Given the description of an element on the screen output the (x, y) to click on. 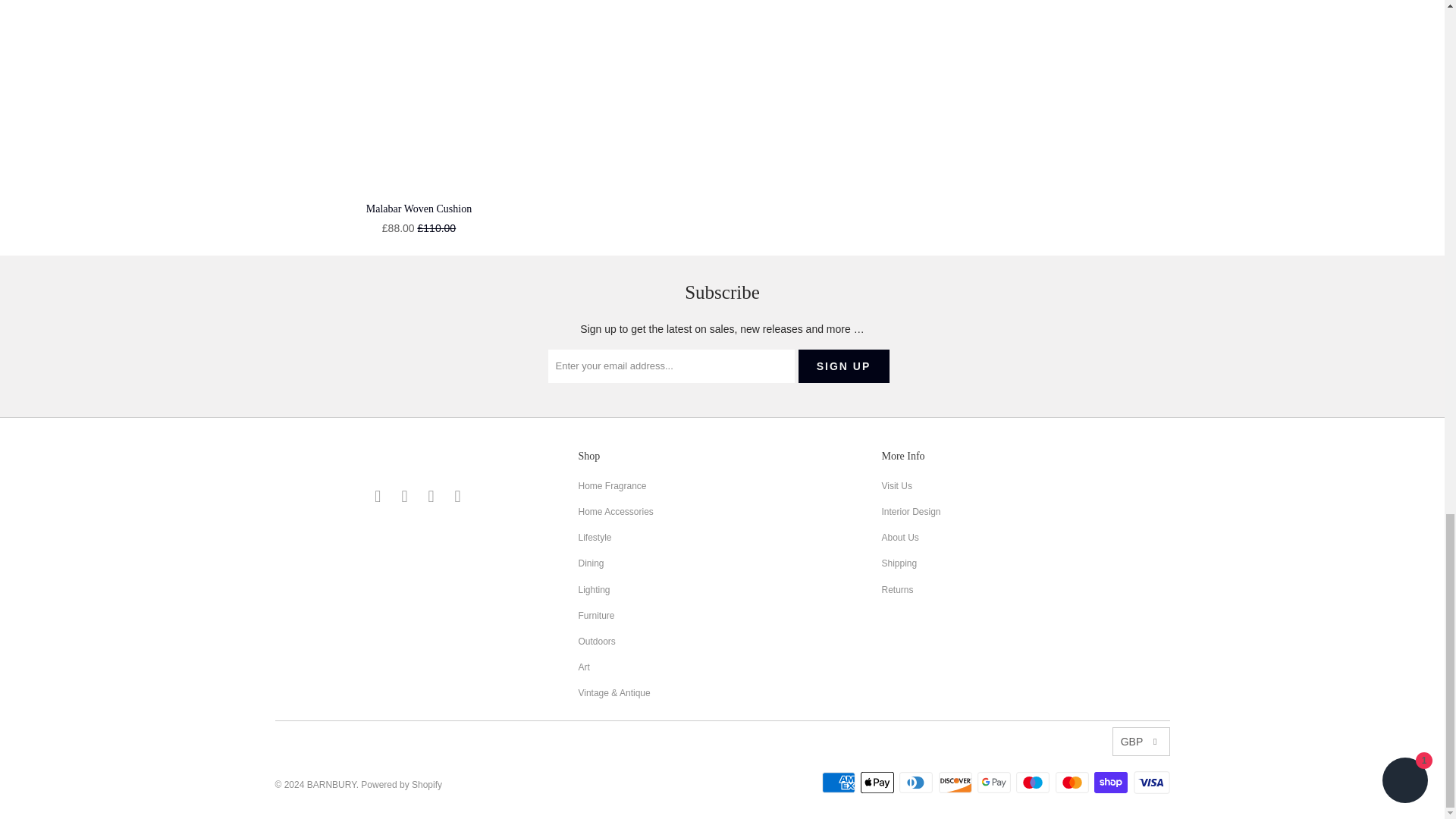
Maestro (1034, 782)
American Express (840, 782)
Sign Up (842, 366)
Discover (957, 782)
BARNBURY on Facebook (404, 496)
BARNBURY on Instagram (431, 496)
Mastercard (1073, 782)
Email BARNBURY (378, 496)
Google Pay (994, 782)
Diners Club (917, 782)
Apple Pay (878, 782)
Visa (1150, 782)
BARNBURY on Pinterest (457, 496)
Shop Pay (1112, 782)
